Given the description of an element on the screen output the (x, y) to click on. 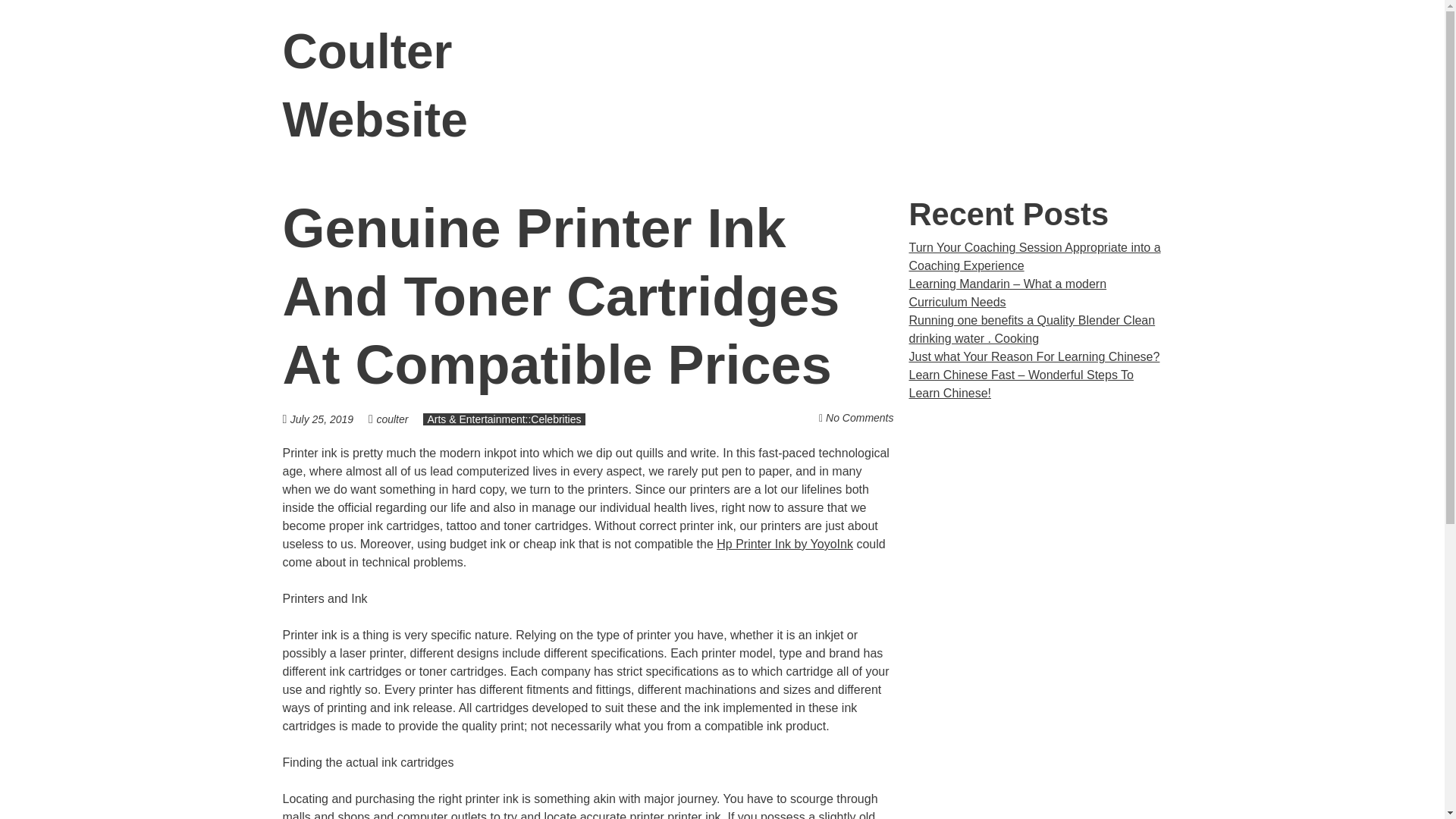
Skip to content (1181, 52)
coulter (391, 419)
No Comments (859, 417)
Just what Your Reason For Learning Chinese? (1033, 356)
Coulter Website (374, 85)
Skip to content (1181, 52)
July 25, 2019 (328, 418)
Hp Printer Ink by YoyoInk (784, 543)
